Given the description of an element on the screen output the (x, y) to click on. 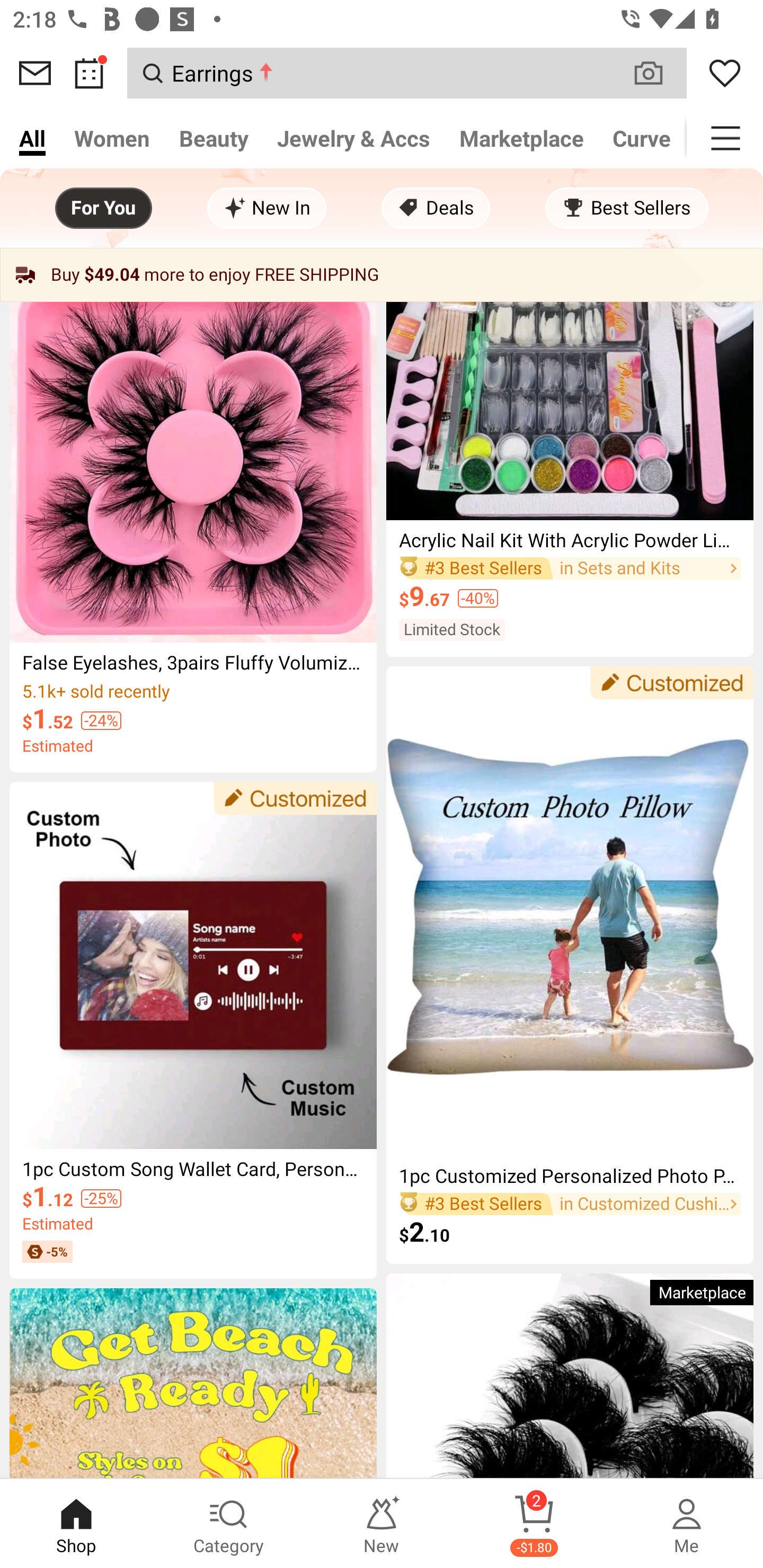
Wishlist (724, 72)
VISUAL SEARCH (657, 72)
All (31, 137)
Women (111, 137)
Beauty (213, 137)
Jewelry & Accs (353, 137)
Marketplace (521, 137)
Curve (641, 137)
New In (266, 207)
Deals (435, 207)
Best Sellers (626, 207)
Buy $49.04 more to enjoy FREE SHIPPING (381, 274)
#3 Best Sellers in Sets and Kits (569, 568)
#3 Best Sellers in Customized Cushion Covers (569, 1203)
New (381, 1523)
Cart 2 -$1.80 (533, 1523)
Me (686, 1523)
